Given the description of an element on the screen output the (x, y) to click on. 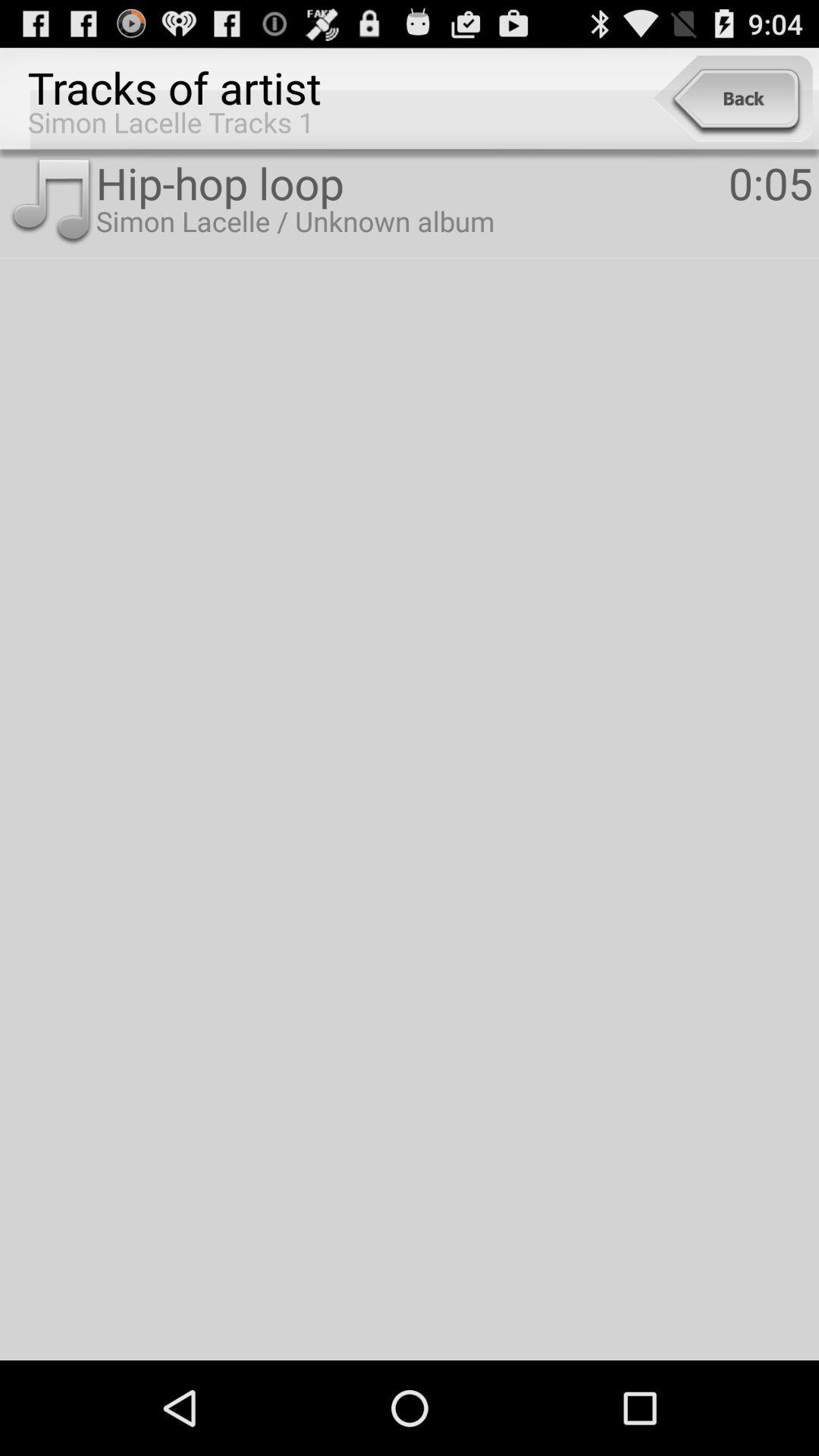
click the item to the right of the tracks of artist app (732, 98)
